Given the description of an element on the screen output the (x, y) to click on. 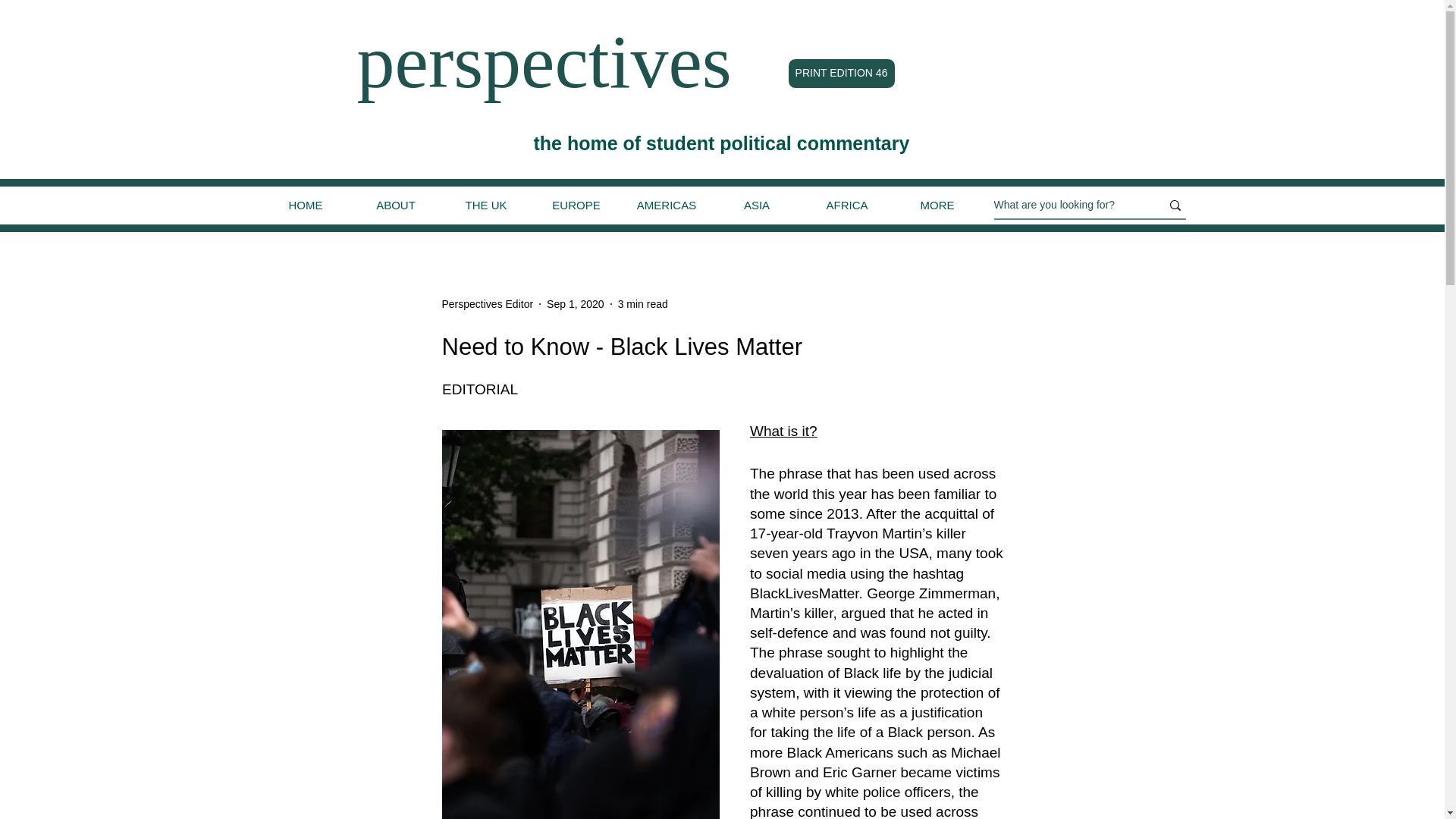
PRINT EDITION 46 (841, 73)
ABOUT (395, 205)
THE UK (486, 205)
3 min read (642, 303)
perspectives (543, 60)
AFRICA (847, 205)
HOME (305, 205)
AMERICAS (666, 205)
Sep 1, 2020 (575, 303)
EUROPE (576, 205)
